Given the description of an element on the screen output the (x, y) to click on. 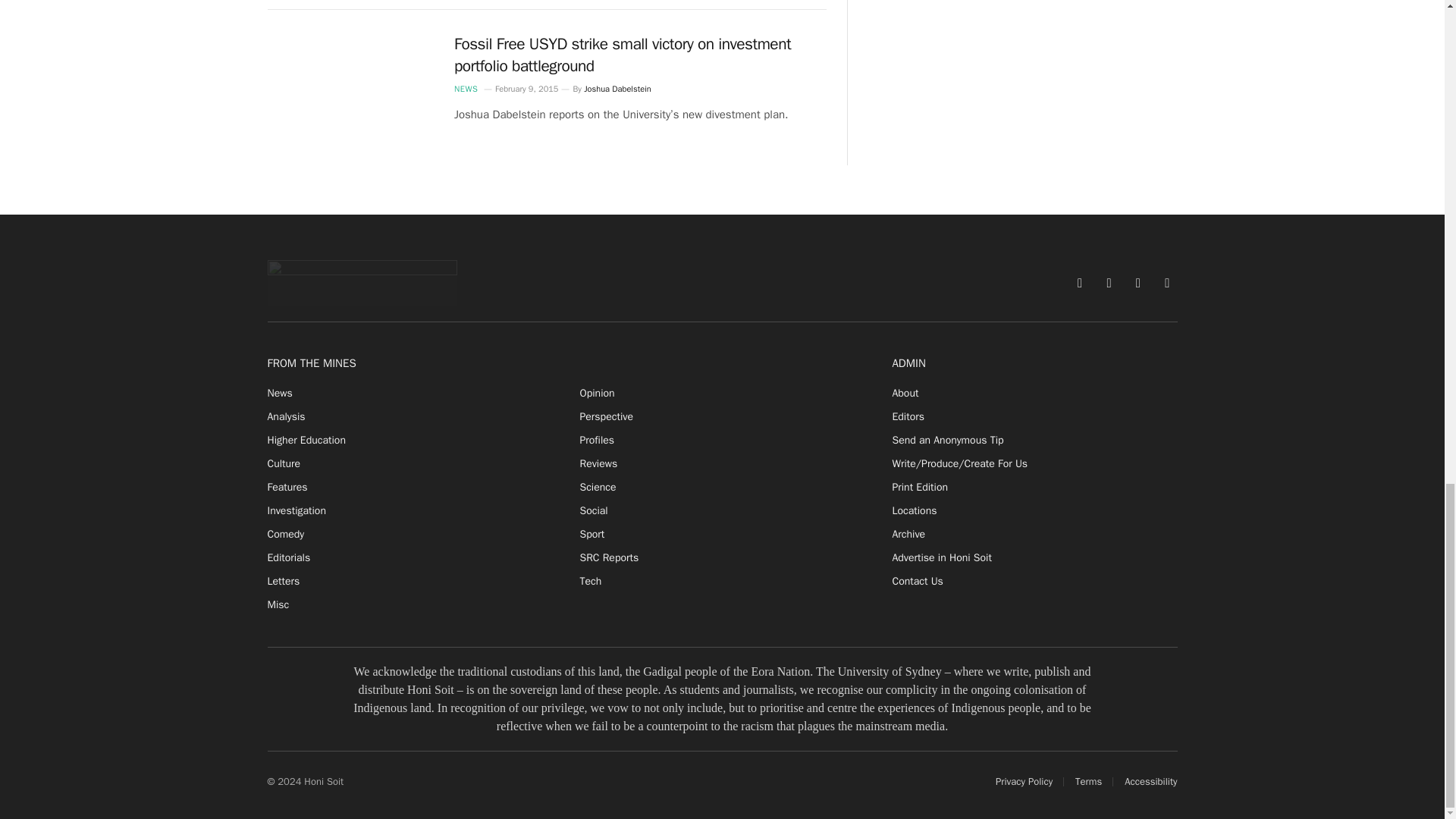
Posts by Joshua Dabelstein (616, 88)
